Given the description of an element on the screen output the (x, y) to click on. 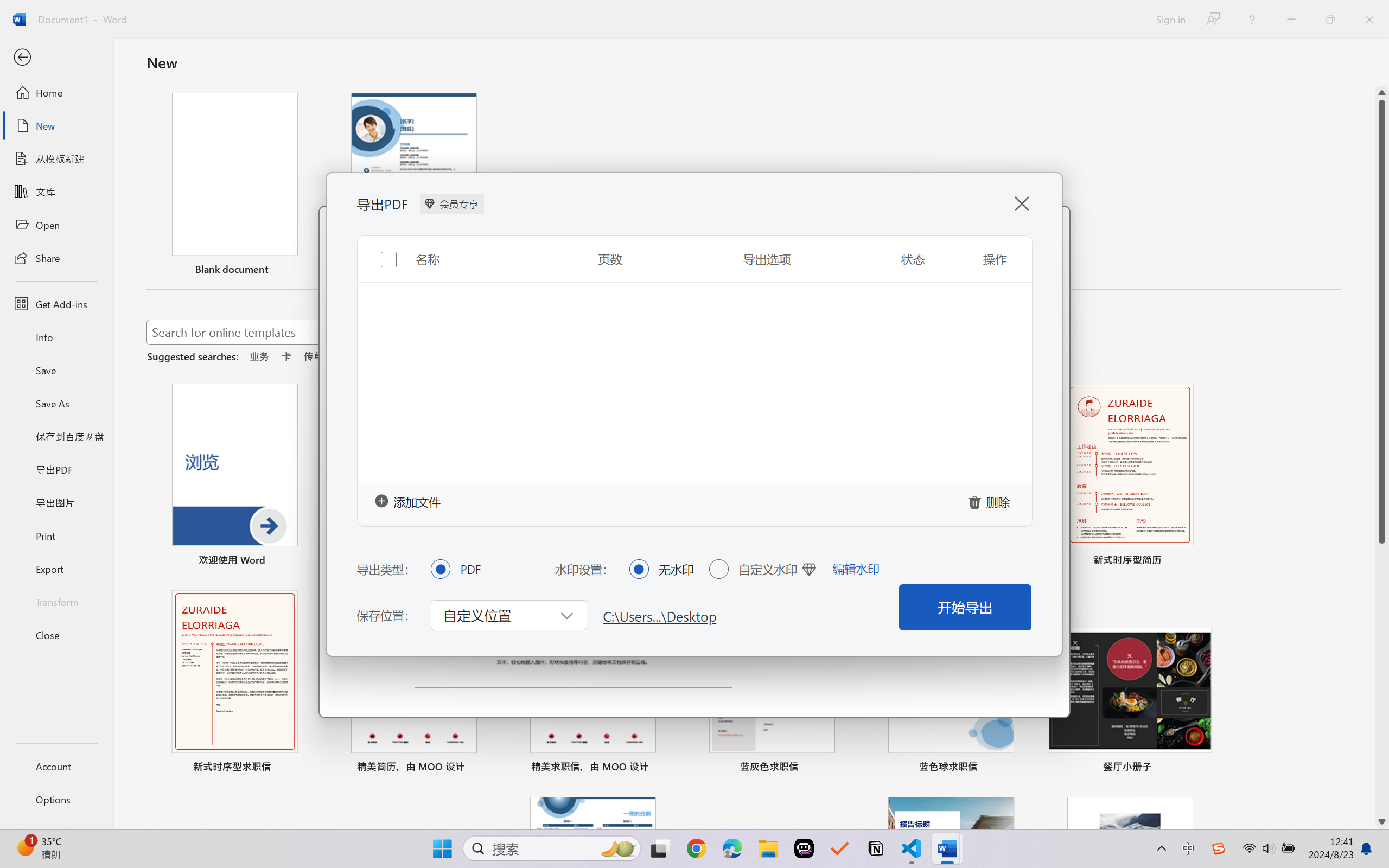
Page down (1382, 679)
Line down (1382, 821)
Toggle selection for all items (380, 255)
C:\Users...\Desktop (659, 615)
